Given the description of an element on the screen output the (x, y) to click on. 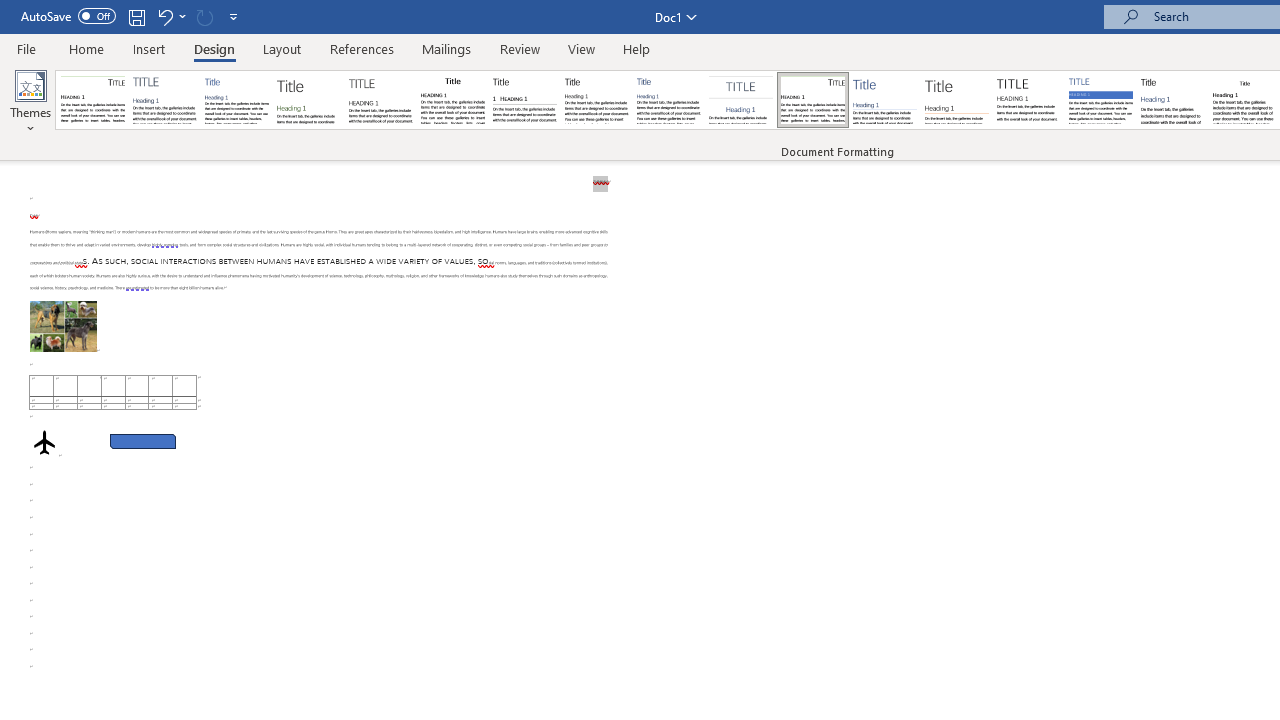
Can't Repeat (204, 15)
Black & White (Word 2013) (596, 100)
Basic (Stylish) (308, 100)
Basic (Elegant) (164, 100)
Black & White (Classic) (452, 100)
Lines (Simple) (884, 100)
Word (1172, 100)
Minimalist (1028, 100)
Undo Apply Quick Style Set (164, 15)
Undo Apply Quick Style Set (170, 15)
